Given the description of an element on the screen output the (x, y) to click on. 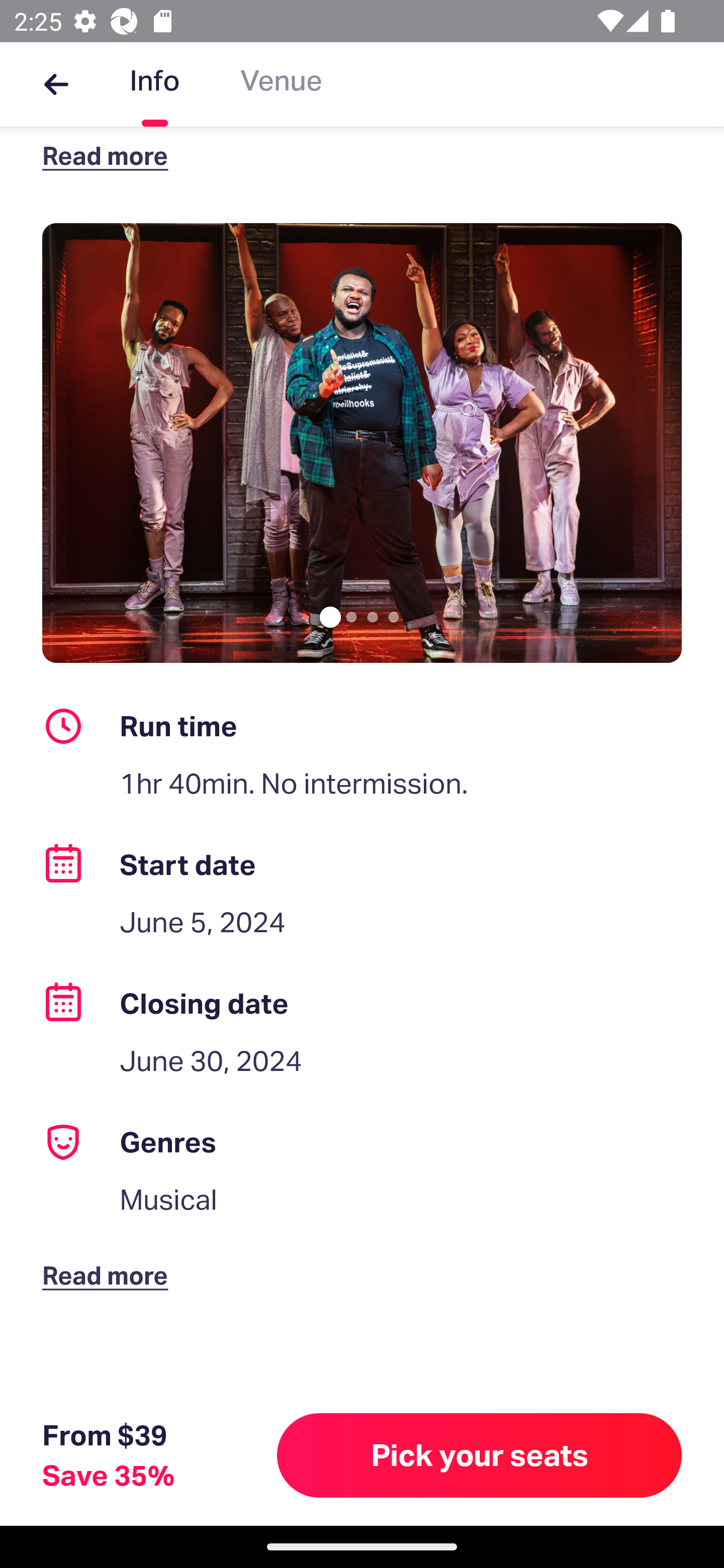
Venue (280, 84)
Read more (109, 155)
Read more (109, 1258)
Pick your seats (479, 1454)
